Given the description of an element on the screen output the (x, y) to click on. 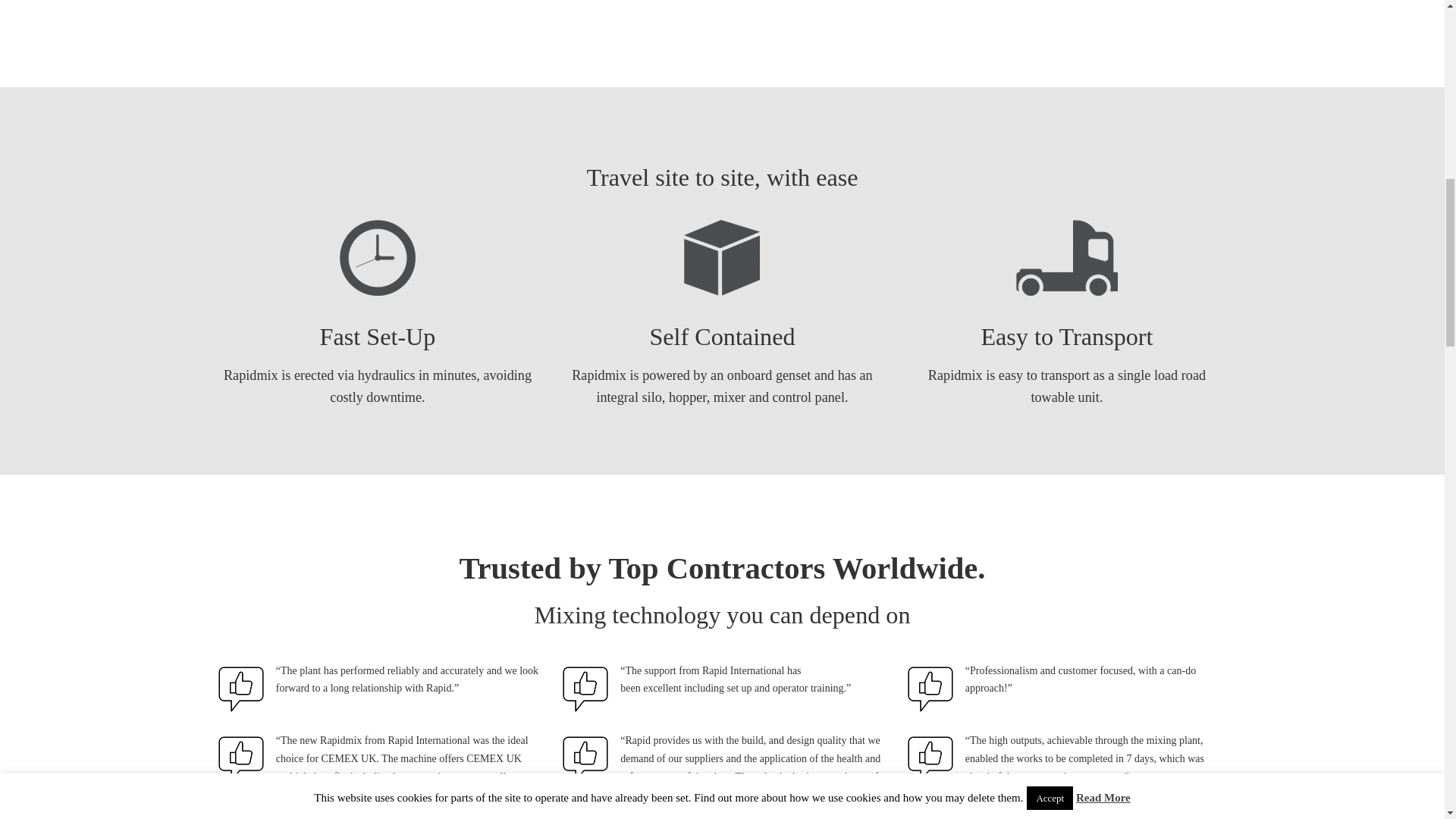
Asset 1 (376, 257)
Screenshot 2020-10-07 at 16.11.52 (980, 11)
Page 1 (722, 590)
Page 1 (722, 615)
Asset 2 (722, 257)
Asset 3 (1067, 257)
